Given the description of an element on the screen output the (x, y) to click on. 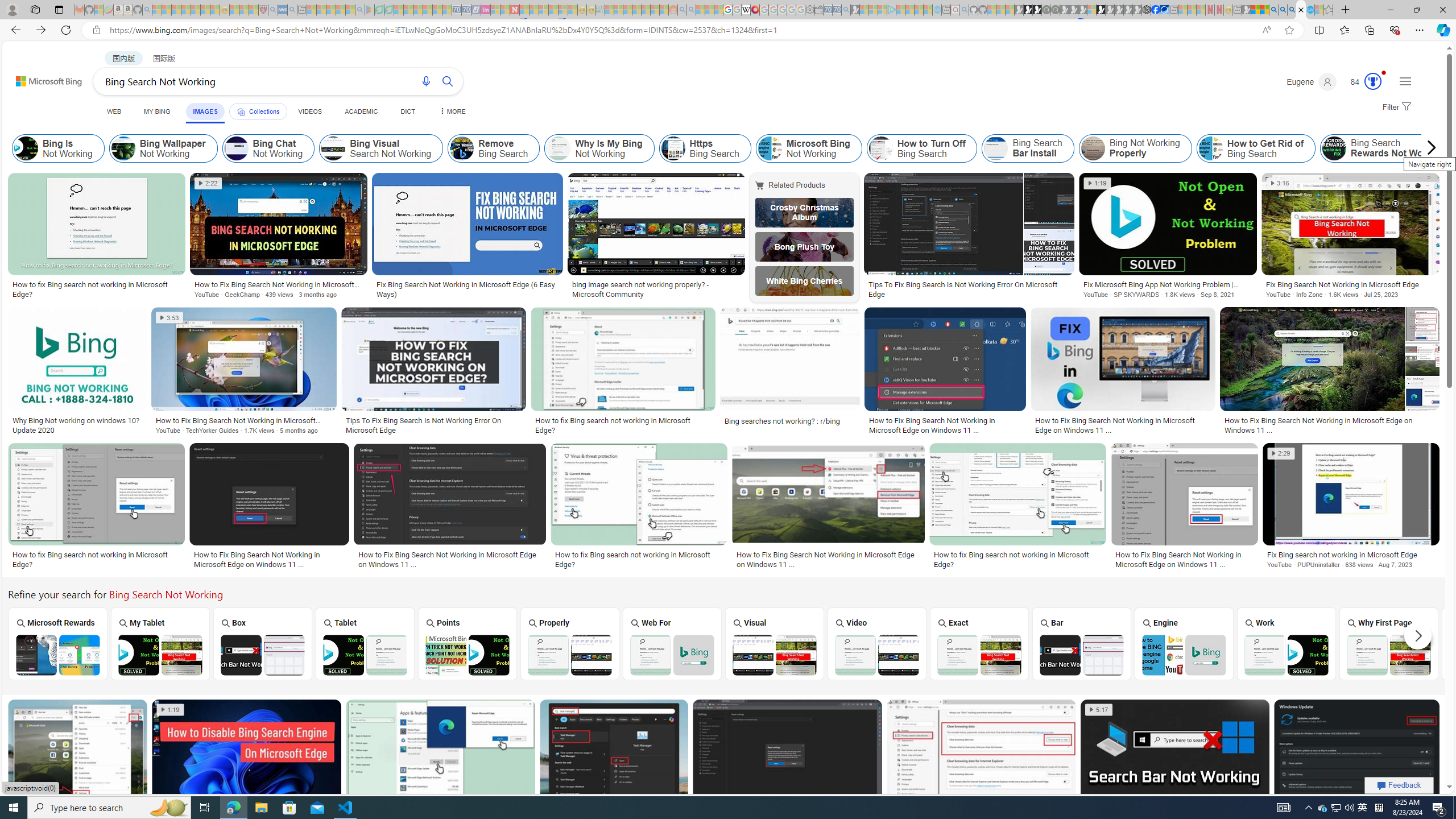
New tab - Sleeping (1236, 9)
Class: b_pri_nav_svg (240, 112)
Bing Search Rewards Not Working (1388, 148)
Bing Real Estate - Home sales and rental listings - Sleeping (846, 9)
Fix Bing Search Not Working in Microsoft Edge (6 Easy Ways) (468, 289)
Why Is My Bing Not Working (558, 148)
Robert H. Shmerling, MD - Harvard Health - Sleeping (263, 9)
Bing Search Not Working Properly (569, 655)
Bing Search Not Working - Search Images (1300, 9)
Eugene (1311, 81)
Play Zoo Boom in your browser | Games from Microsoft Start (1027, 9)
